Given the description of an element on the screen output the (x, y) to click on. 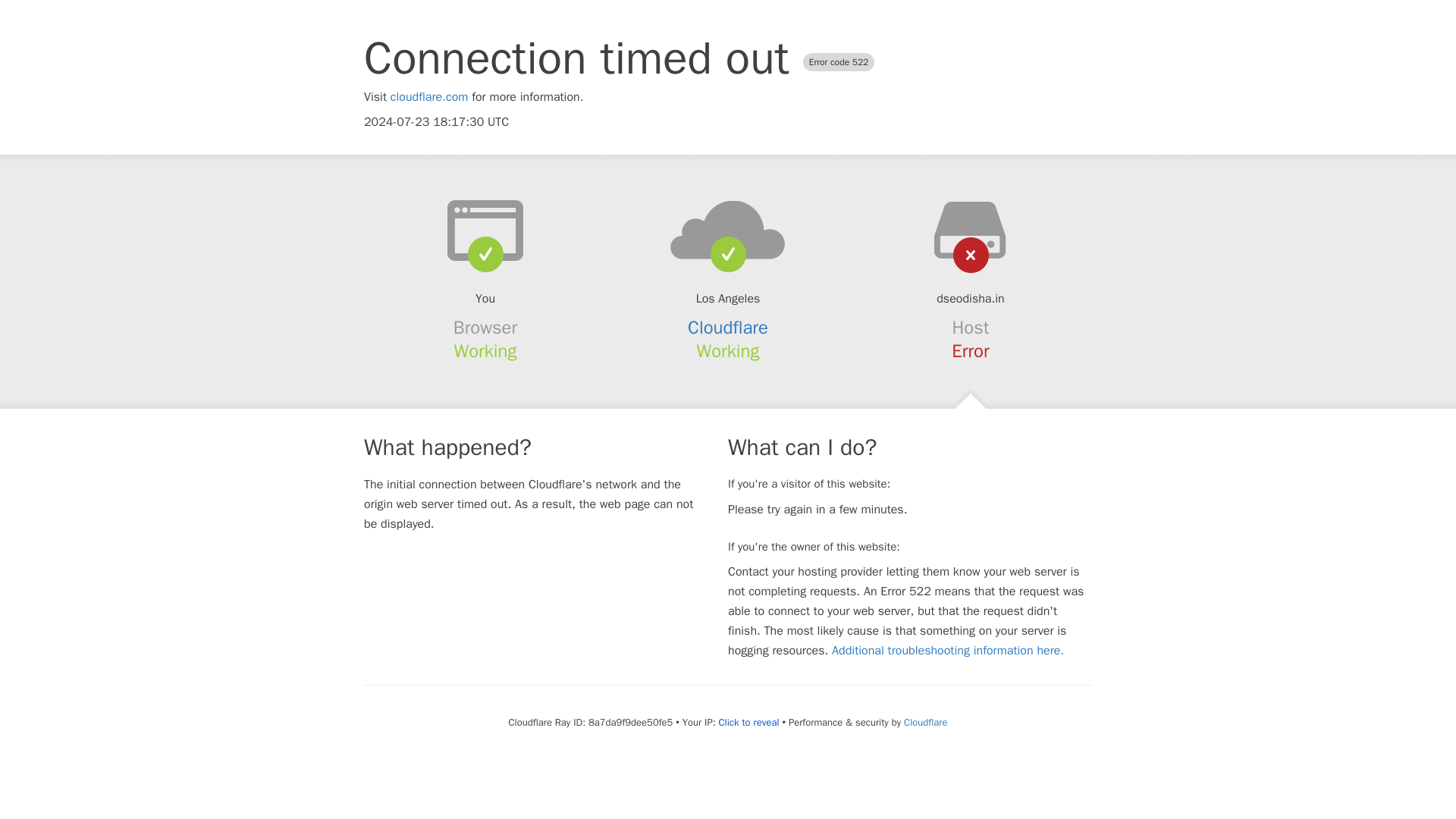
Cloudflare (925, 721)
cloudflare.com (429, 96)
Cloudflare (727, 327)
Additional troubleshooting information here. (947, 650)
Click to reveal (748, 722)
